Given the description of an element on the screen output the (x, y) to click on. 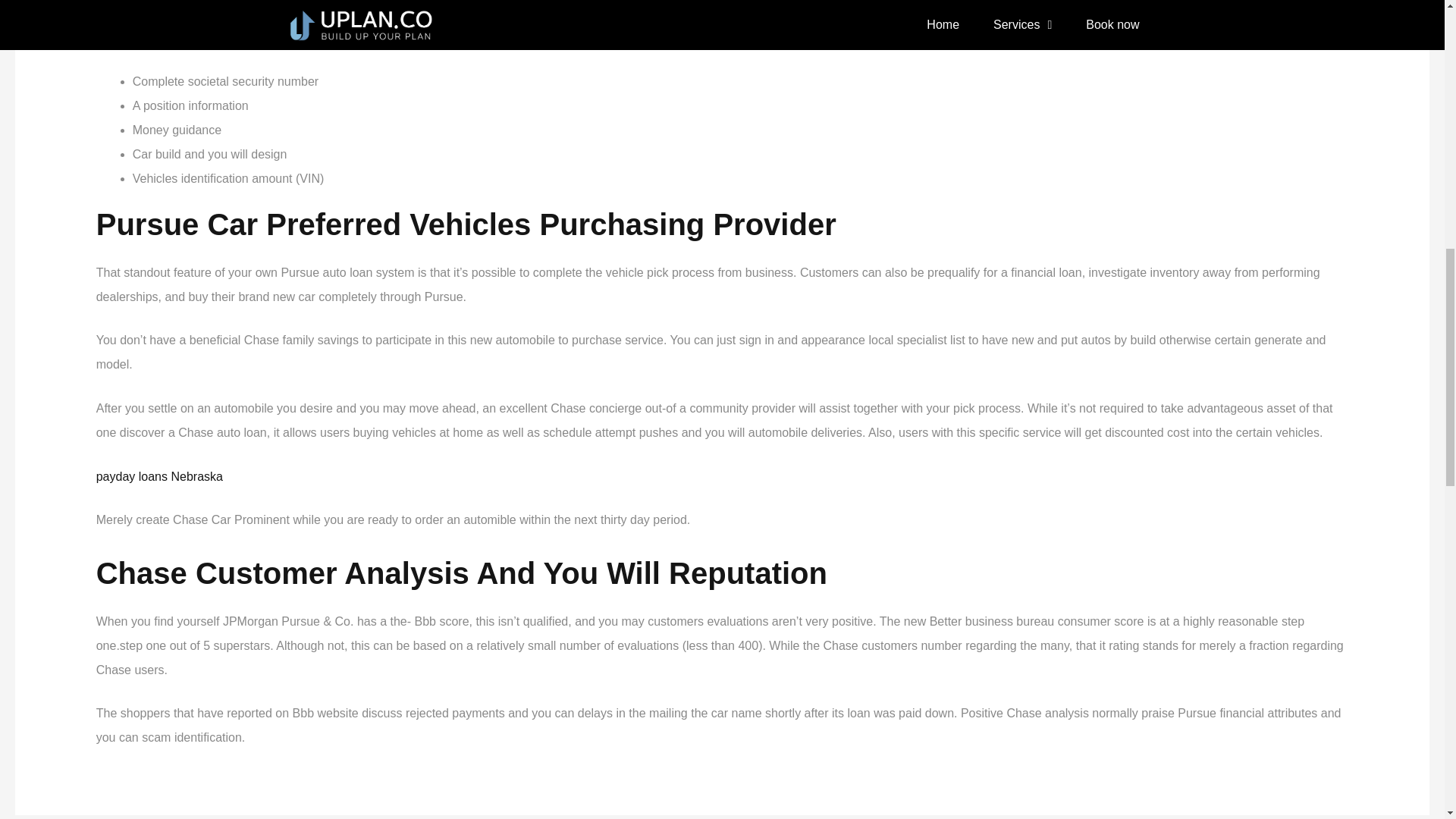
payday loans Nebraska (159, 476)
